Given the description of an element on the screen output the (x, y) to click on. 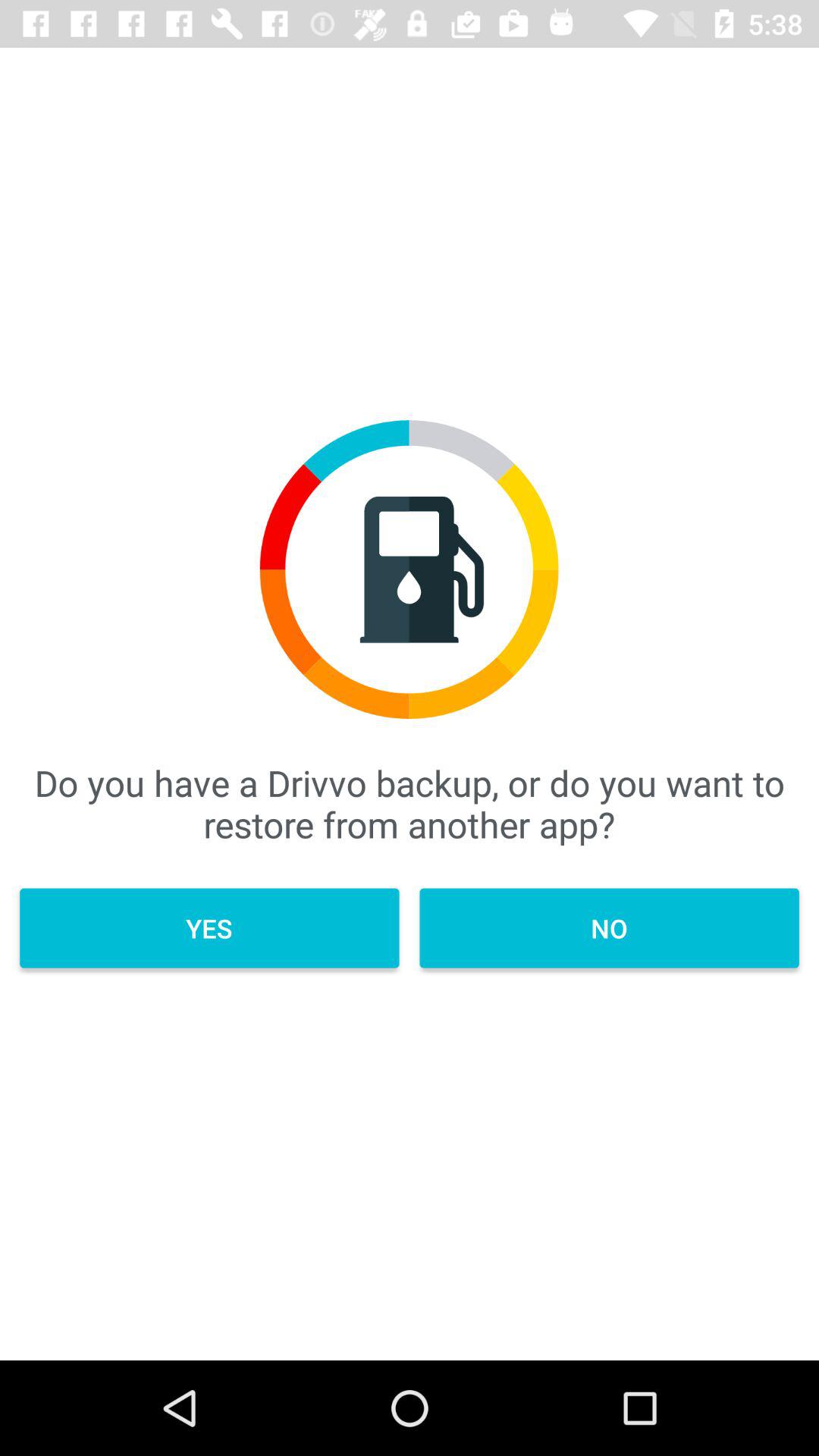
swipe until yes item (209, 928)
